Given the description of an element on the screen output the (x, y) to click on. 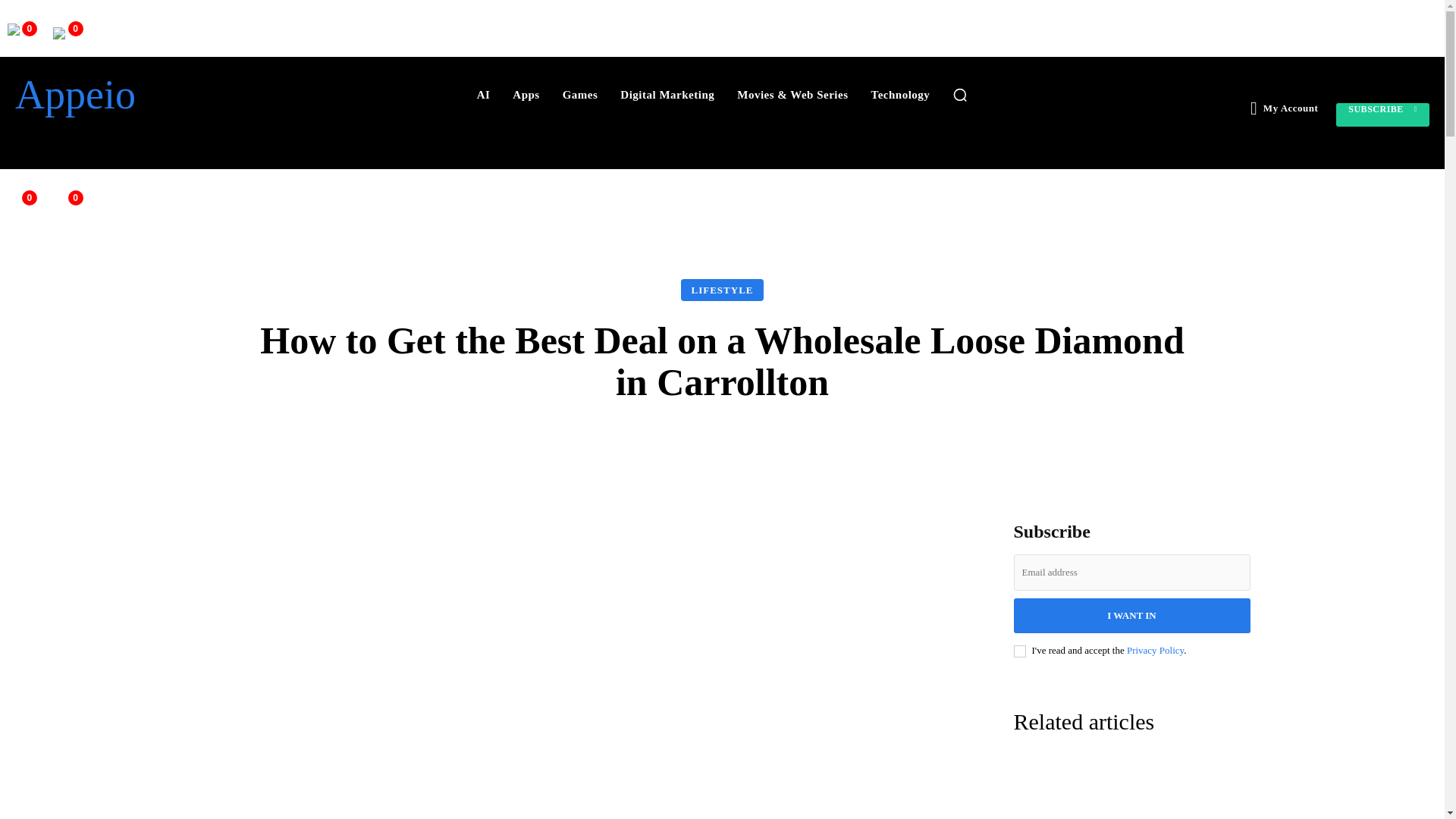
SUBSCRIBE (1382, 114)
Subscribe (1382, 114)
Appeio (127, 94)
Appeio (127, 94)
Technology (900, 94)
Digital Marketing (667, 94)
